Given the description of an element on the screen output the (x, y) to click on. 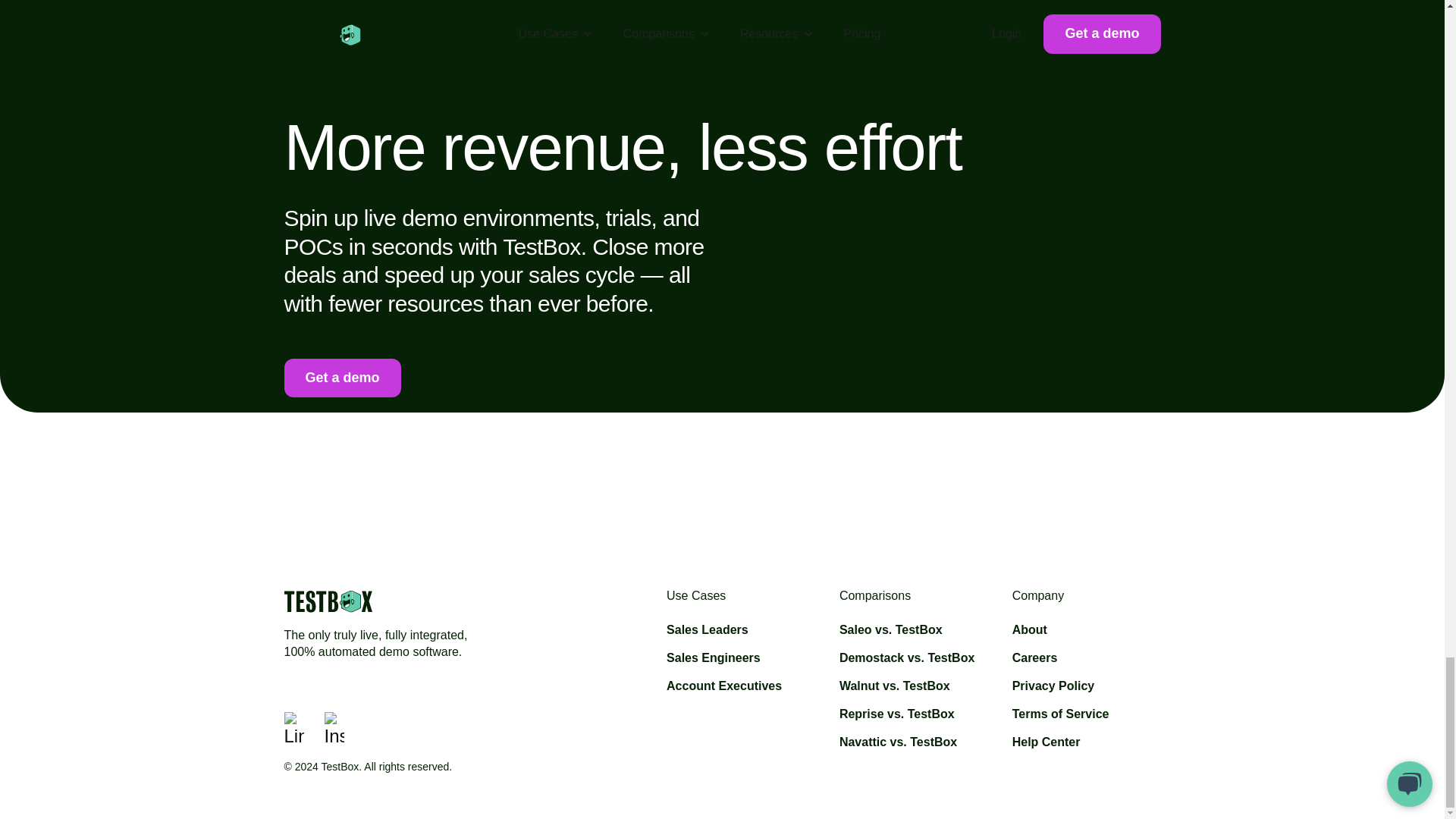
Reprise vs. TestBox (897, 713)
Navattic vs. TestBox (898, 742)
Demostack vs. TestBox (907, 658)
Sales Engineers (713, 658)
About (1028, 630)
Careers (1034, 658)
Privacy Policy (1052, 686)
Terms of Service (1060, 713)
Help Center (1045, 742)
Sales Leaders (707, 630)
Account Executives (723, 686)
Get a demo (341, 377)
Saleo vs. TestBox (891, 630)
Walnut vs. TestBox (895, 686)
